Given the description of an element on the screen output the (x, y) to click on. 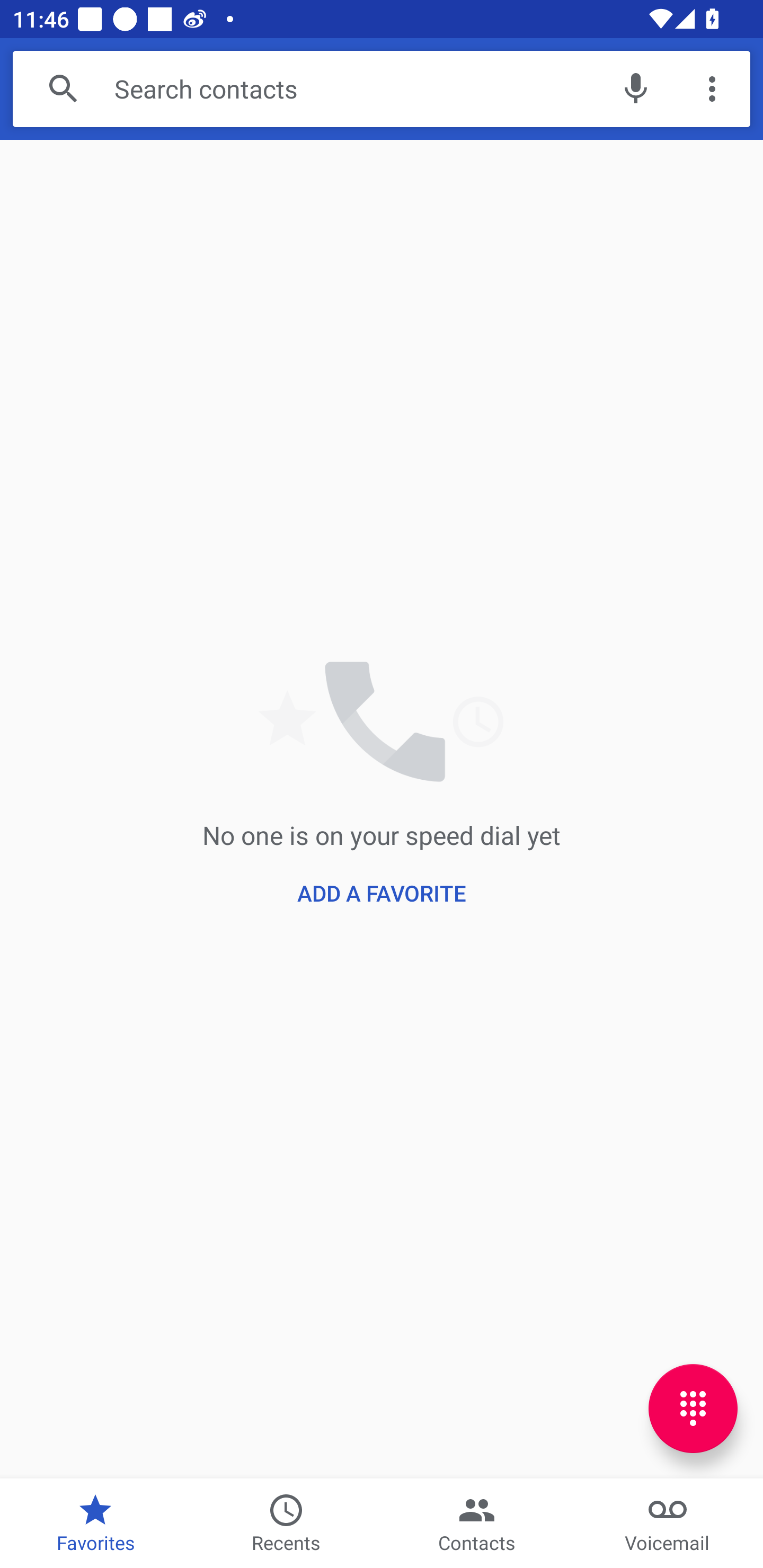
Search contacts Start voice search More options (381, 88)
Start voice search (635, 88)
More options (711, 88)
No one is on your speed dial yet ADD A FAVORITE (381, 808)
ADD A FAVORITE (380, 892)
key pad (692, 1408)
Favorites (95, 1523)
Recents (285, 1523)
Contacts (476, 1523)
Voicemail (667, 1523)
